Given the description of an element on the screen output the (x, y) to click on. 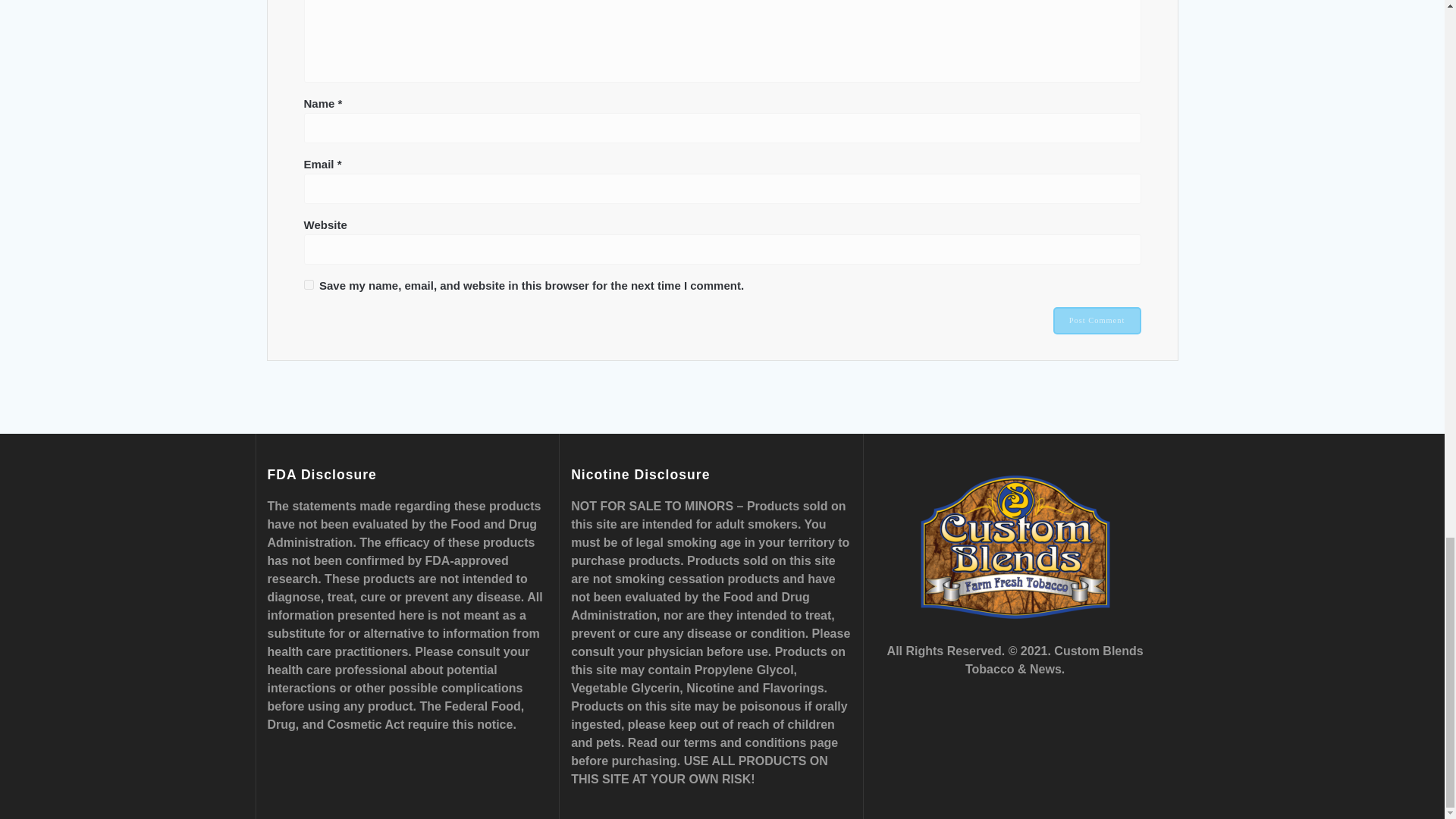
Post Comment (1096, 320)
yes (307, 284)
Post Comment (1096, 320)
